Given the description of an element on the screen output the (x, y) to click on. 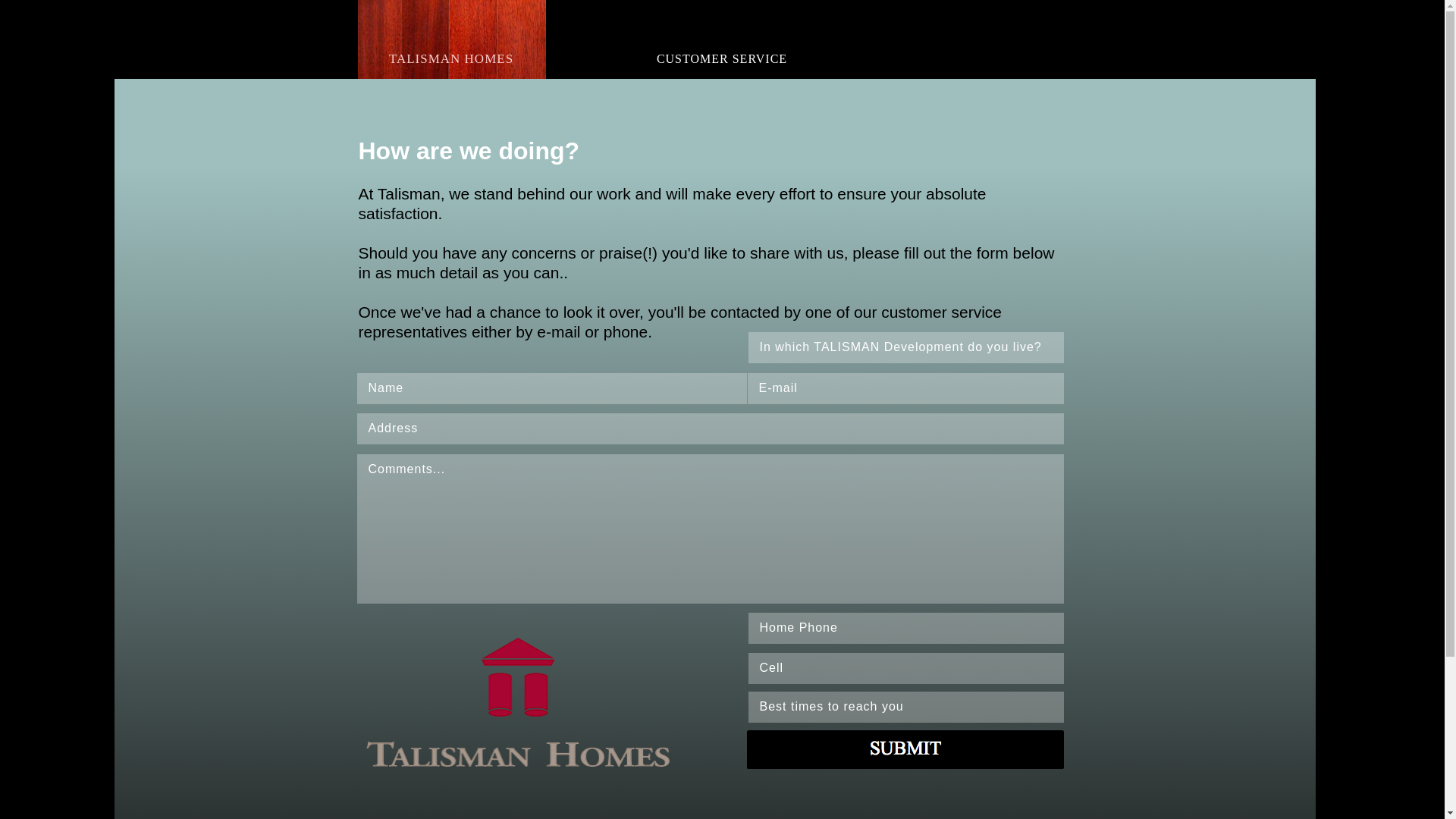
TALISMAN HOMES (451, 38)
